Given the description of an element on the screen output the (x, y) to click on. 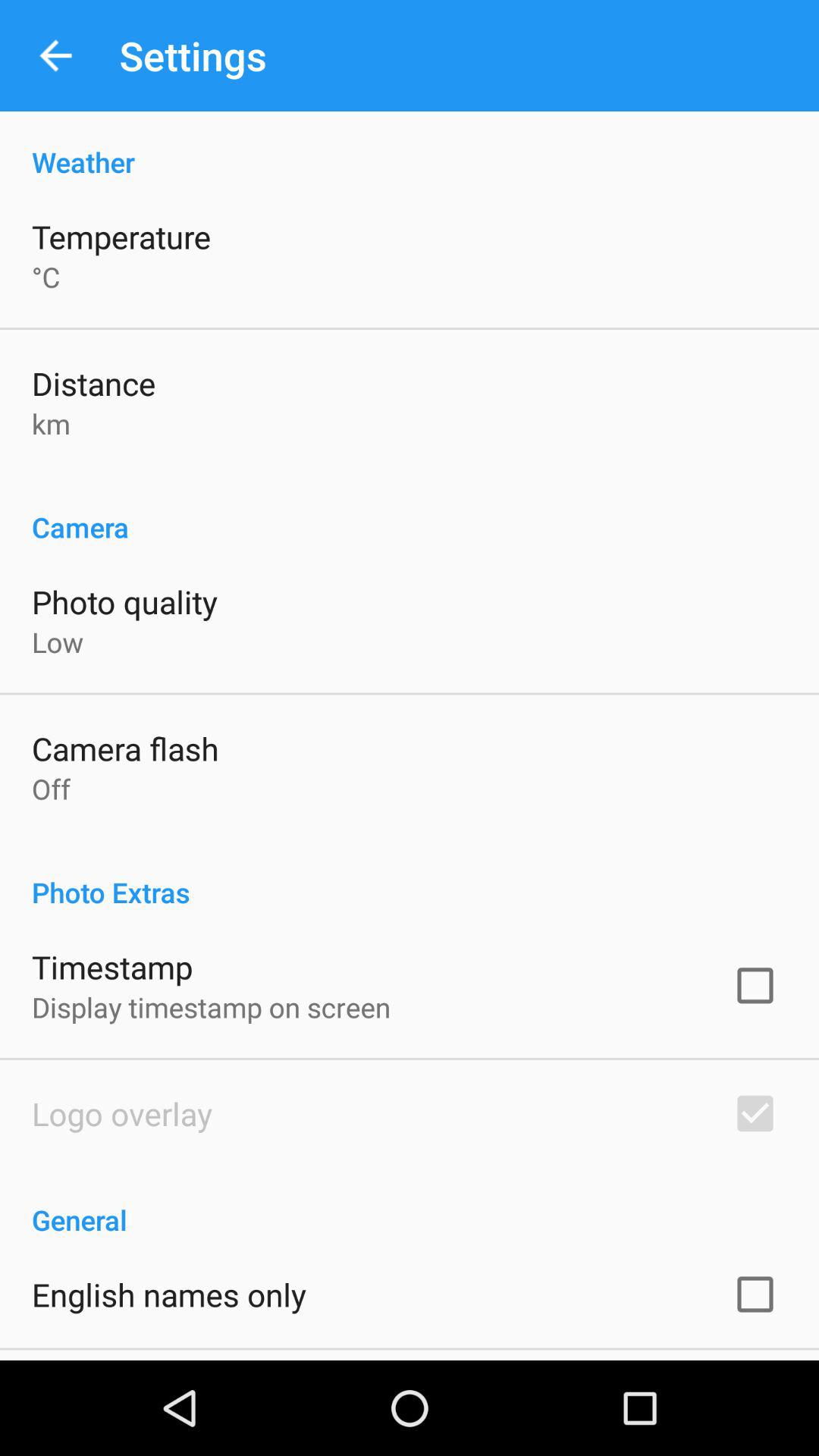
turn on icon above the distance icon (45, 276)
